Given the description of an element on the screen output the (x, y) to click on. 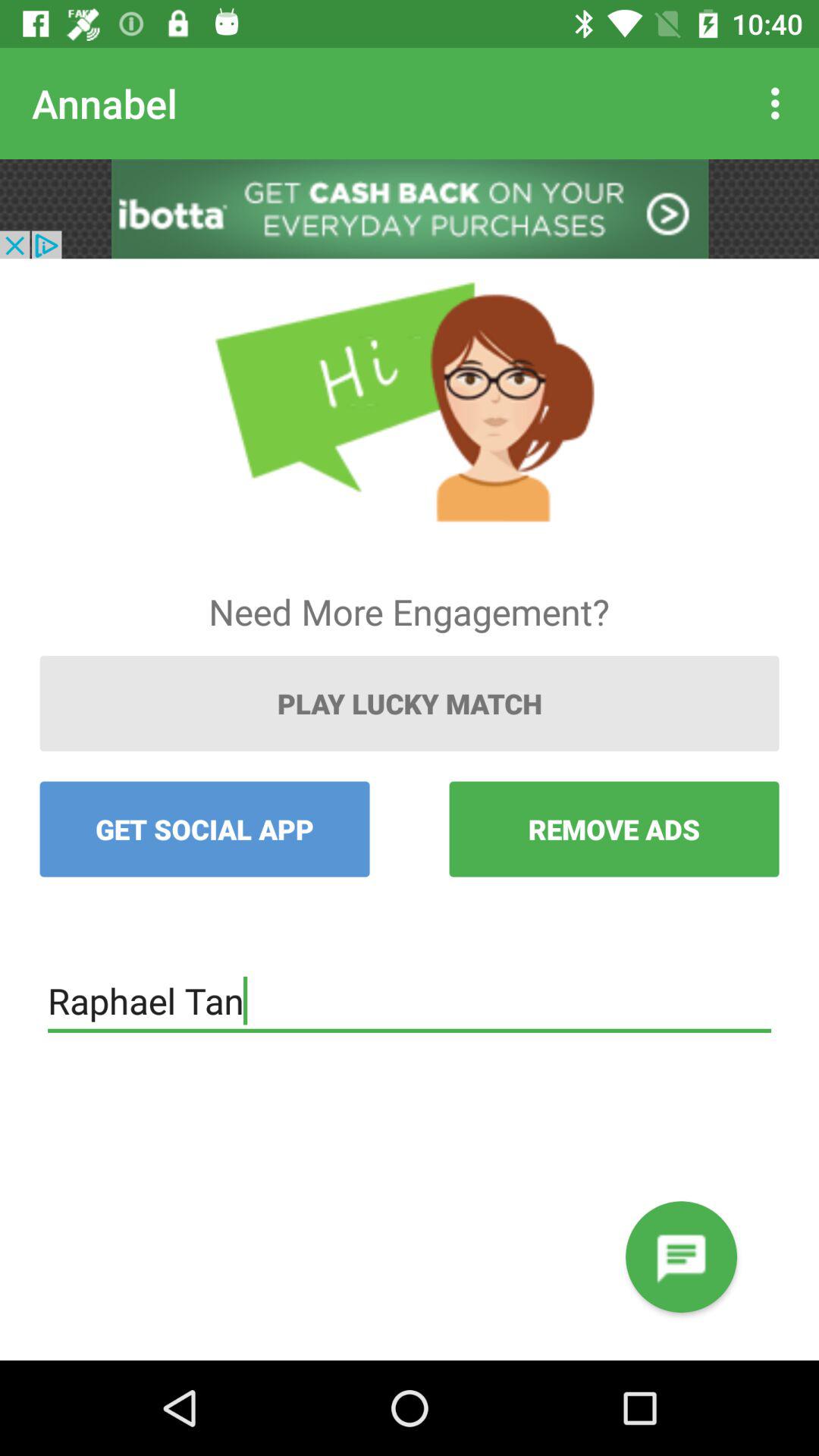
create message (681, 1256)
